Given the description of an element on the screen output the (x, y) to click on. 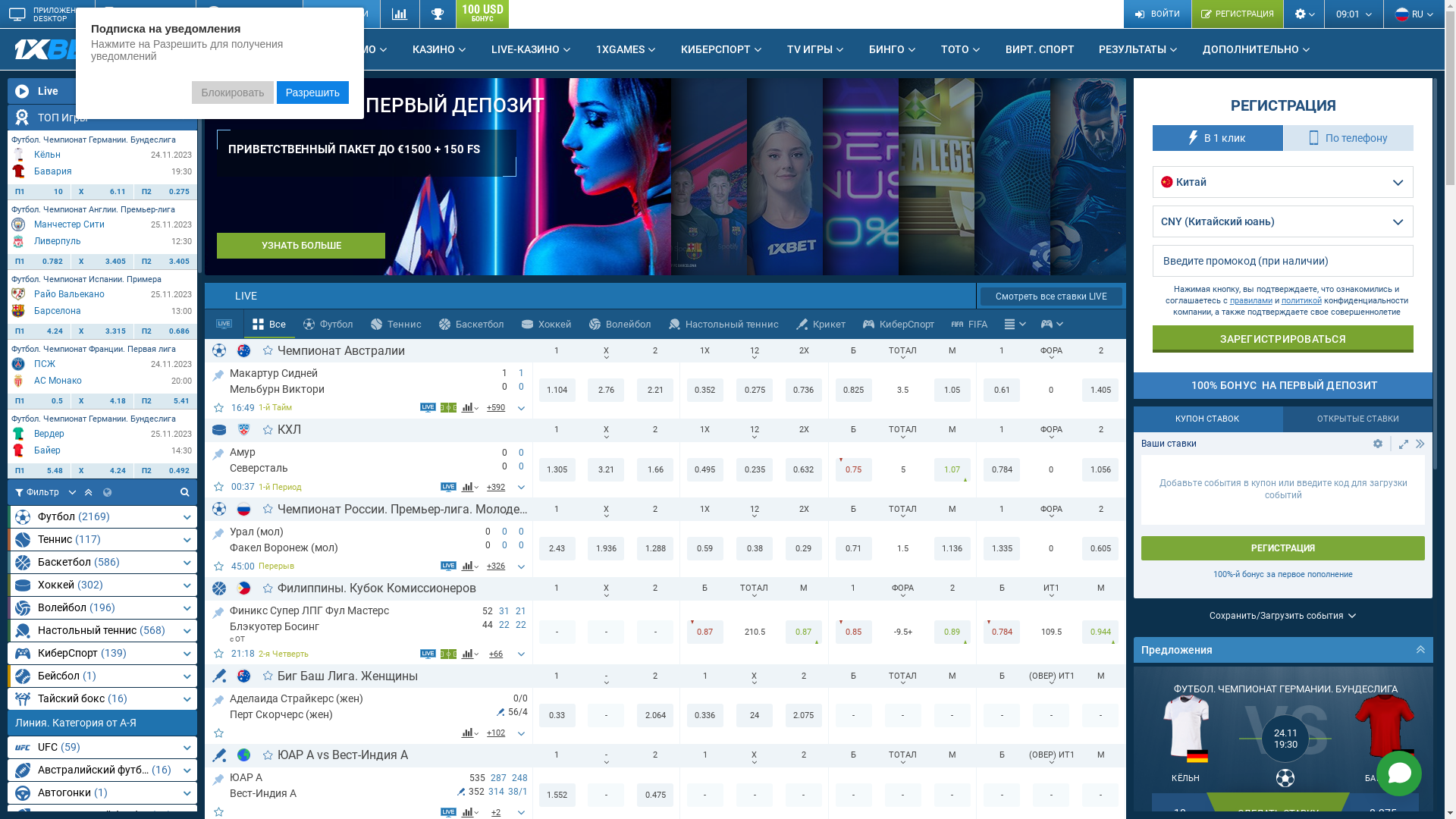
PROMO Element type: text (363, 48)
Live Element type: text (102, 90)
1XGAMES Element type: text (625, 48)
NEW Element type: text (124, 42)
TOP Element type: hover (217, 610)
TOP Element type: hover (217, 372)
TOP Element type: hover (217, 697)
+326 Element type: text (496, 565)
+98 Element type: text (496, 732)
+396 Element type: text (496, 486)
TOP Element type: hover (217, 451)
LIVE Element type: text (296, 48)
TOP Element type: hover (217, 530)
LIVE Element type: text (601, 295)
+592 Element type: text (496, 407)
+66 Element type: text (496, 653)
FIFA Element type: text (969, 323)
UFC
(59) Element type: text (102, 747)
TOP Element type: hover (217, 777)
